Given the description of an element on the screen output the (x, y) to click on. 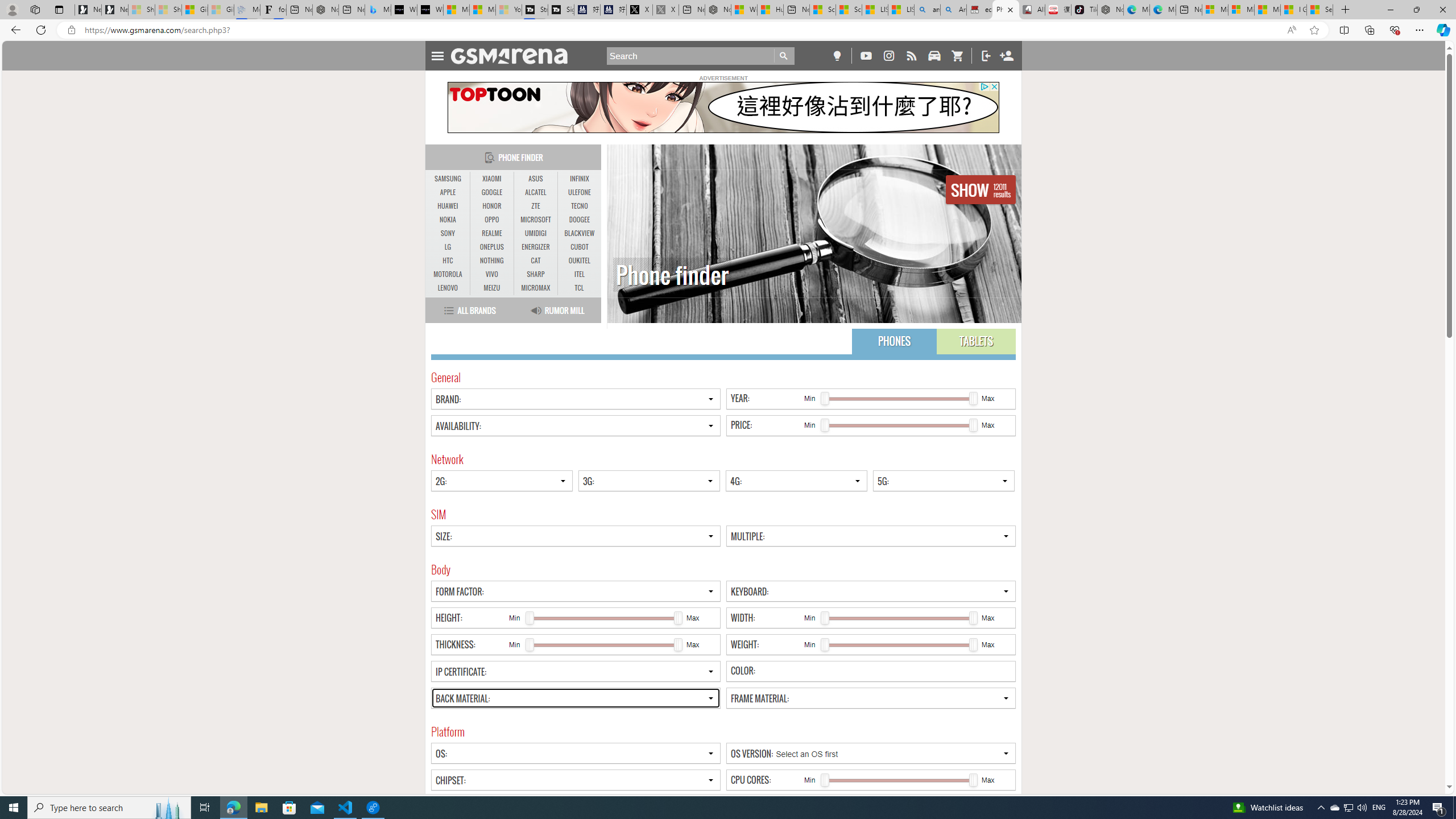
Class: l-col-full framed p10 pf-input js-bound (871, 671)
Nordace - My Account (717, 9)
PHONES (893, 341)
HTC (448, 260)
SHARP (535, 273)
NOKIA (448, 219)
TECNO (579, 206)
